Given the description of an element on the screen output the (x, y) to click on. 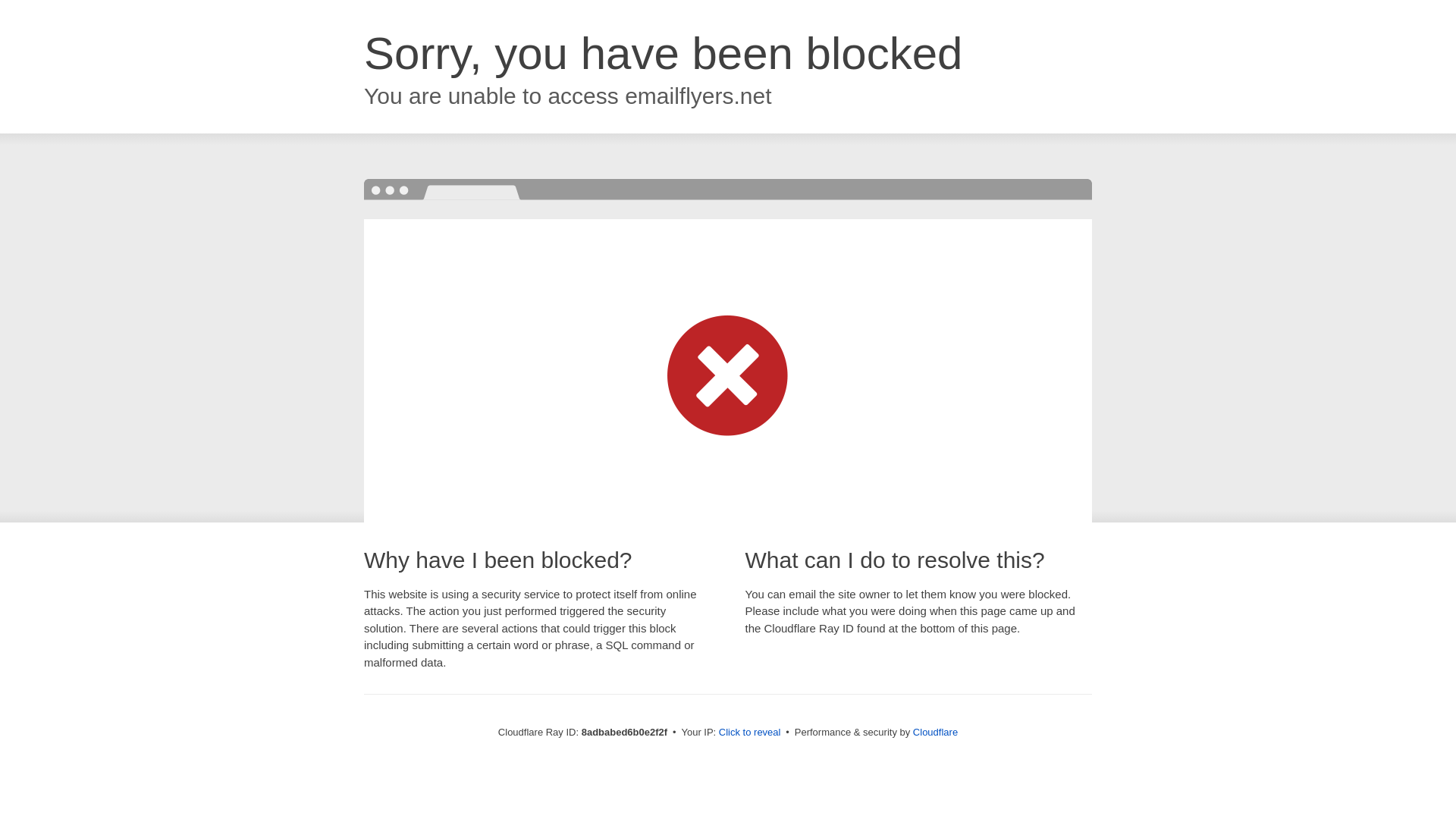
Click to reveal (749, 732)
Cloudflare (935, 731)
